Given the description of an element on the screen output the (x, y) to click on. 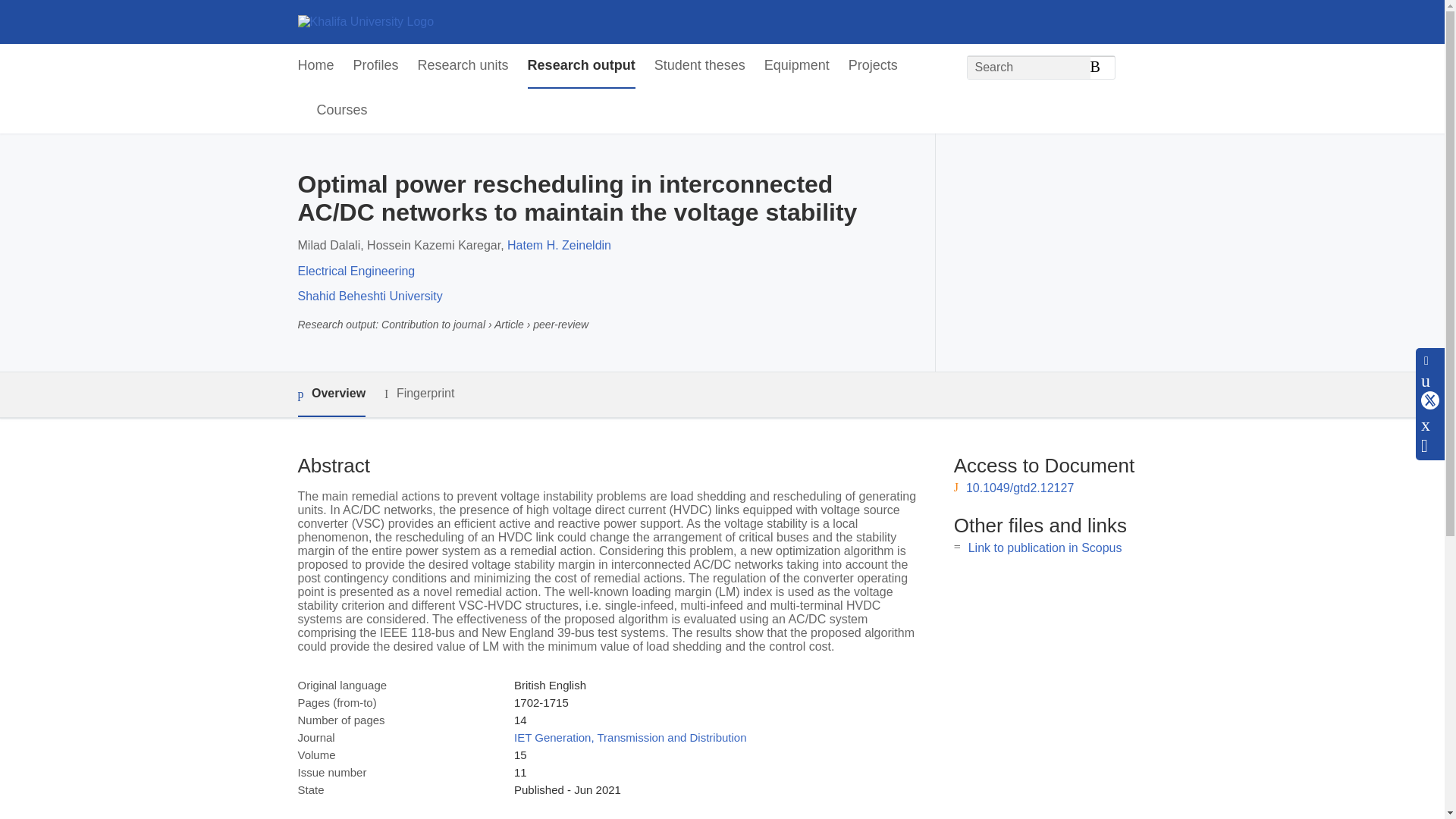
Fingerprint (419, 393)
Shahid Beheshti University (369, 295)
Electrical Engineering (355, 270)
Profiles (375, 66)
Link to publication in Scopus (1045, 547)
Equipment (796, 66)
Projects (873, 66)
Courses (342, 110)
Khalifa University Home (365, 21)
Hatem H. Zeineldin (558, 245)
Research output (580, 66)
Overview (331, 394)
Research units (462, 66)
IET Generation, Transmission and Distribution (629, 737)
Student theses (699, 66)
